Given the description of an element on the screen output the (x, y) to click on. 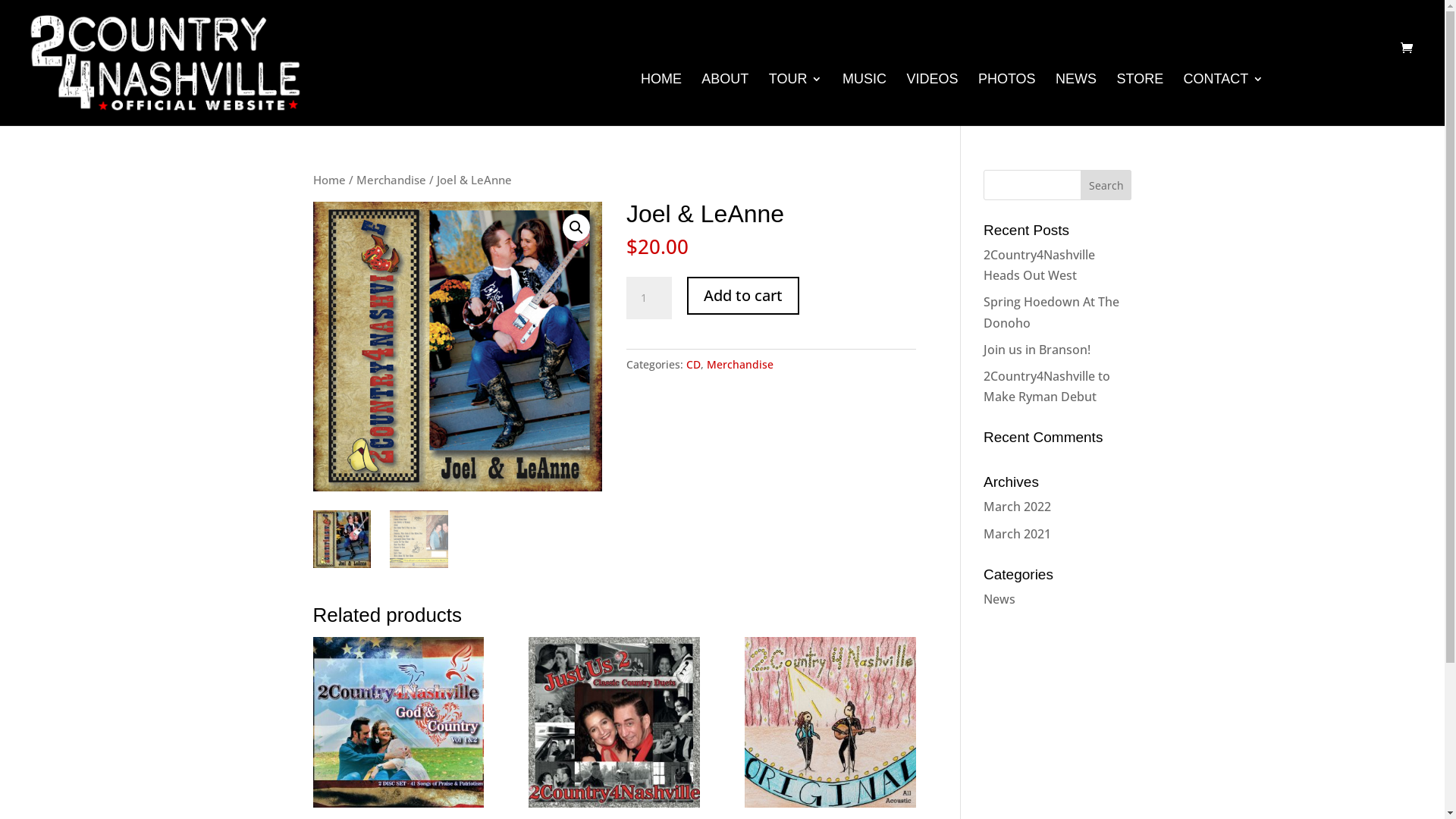
PHOTOS Element type: text (1006, 99)
Join us in Branson! Element type: text (1036, 349)
CD Element type: text (693, 364)
Add to cart Element type: text (743, 295)
TOUR Element type: text (795, 99)
CONTACT Element type: text (1223, 99)
album2 Element type: hover (457, 346)
March 2021 Element type: text (1017, 532)
Merchandise Element type: text (739, 364)
Spring Hoedown At The Donoho Element type: text (1051, 311)
HOME Element type: text (660, 99)
Home Element type: text (328, 179)
2Country4Nashville Heads Out West Element type: text (1039, 264)
Merchandise Element type: text (391, 179)
ABOUT Element type: text (724, 99)
NEWS Element type: text (1075, 99)
2Country4Nashville to Make Ryman Debut Element type: text (1046, 385)
VIDEOS Element type: text (931, 99)
March 2022 Element type: text (1017, 506)
MUSIC Element type: text (864, 99)
STORE Element type: text (1139, 99)
Search Element type: text (1106, 184)
News Element type: text (999, 598)
